Given the description of an element on the screen output the (x, y) to click on. 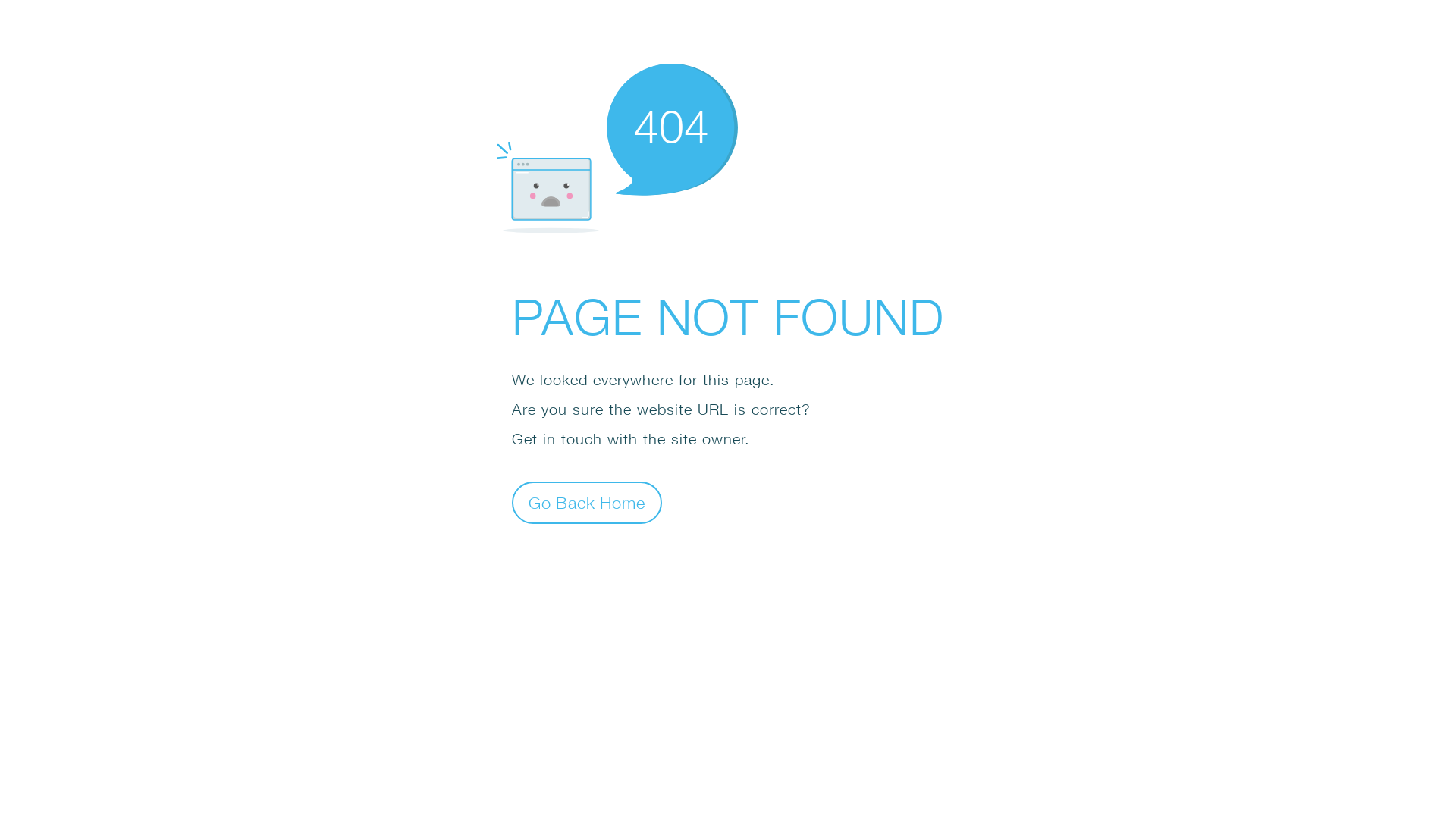
Go Back Home Element type: text (586, 502)
